Given the description of an element on the screen output the (x, y) to click on. 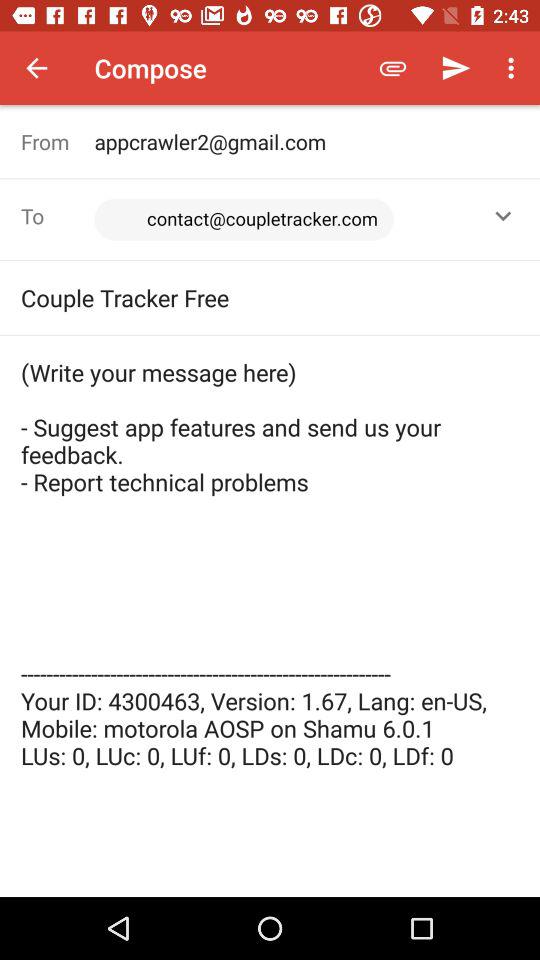
press the icon to the right of the <contact@coupletracker.com>,  item (503, 215)
